Given the description of an element on the screen output the (x, y) to click on. 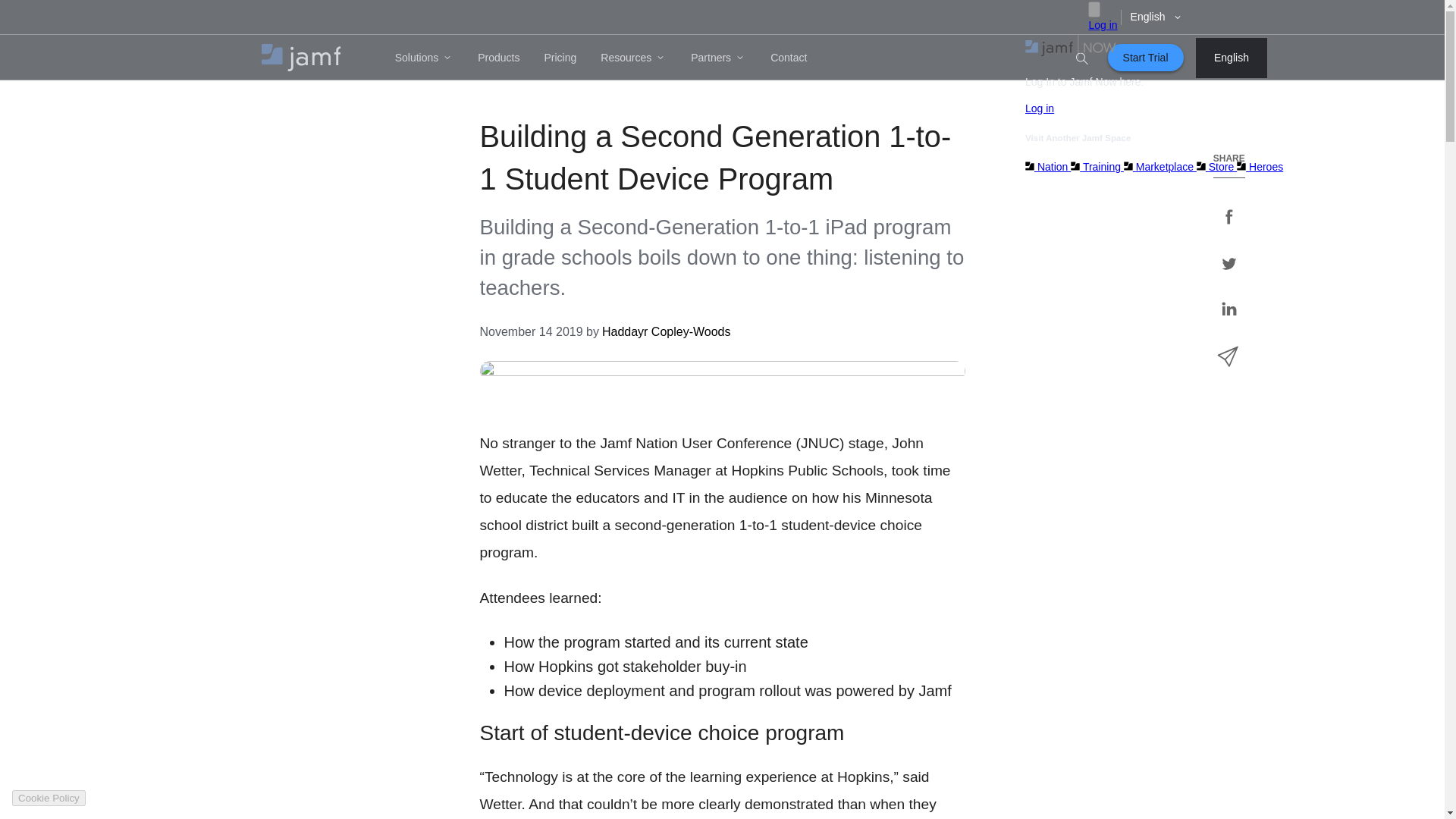
Products (498, 57)
Pricing (559, 57)
Resources (633, 57)
English (1230, 58)
Home (299, 57)
Solutions (423, 57)
English (1156, 17)
Partners (718, 57)
